Given the description of an element on the screen output the (x, y) to click on. 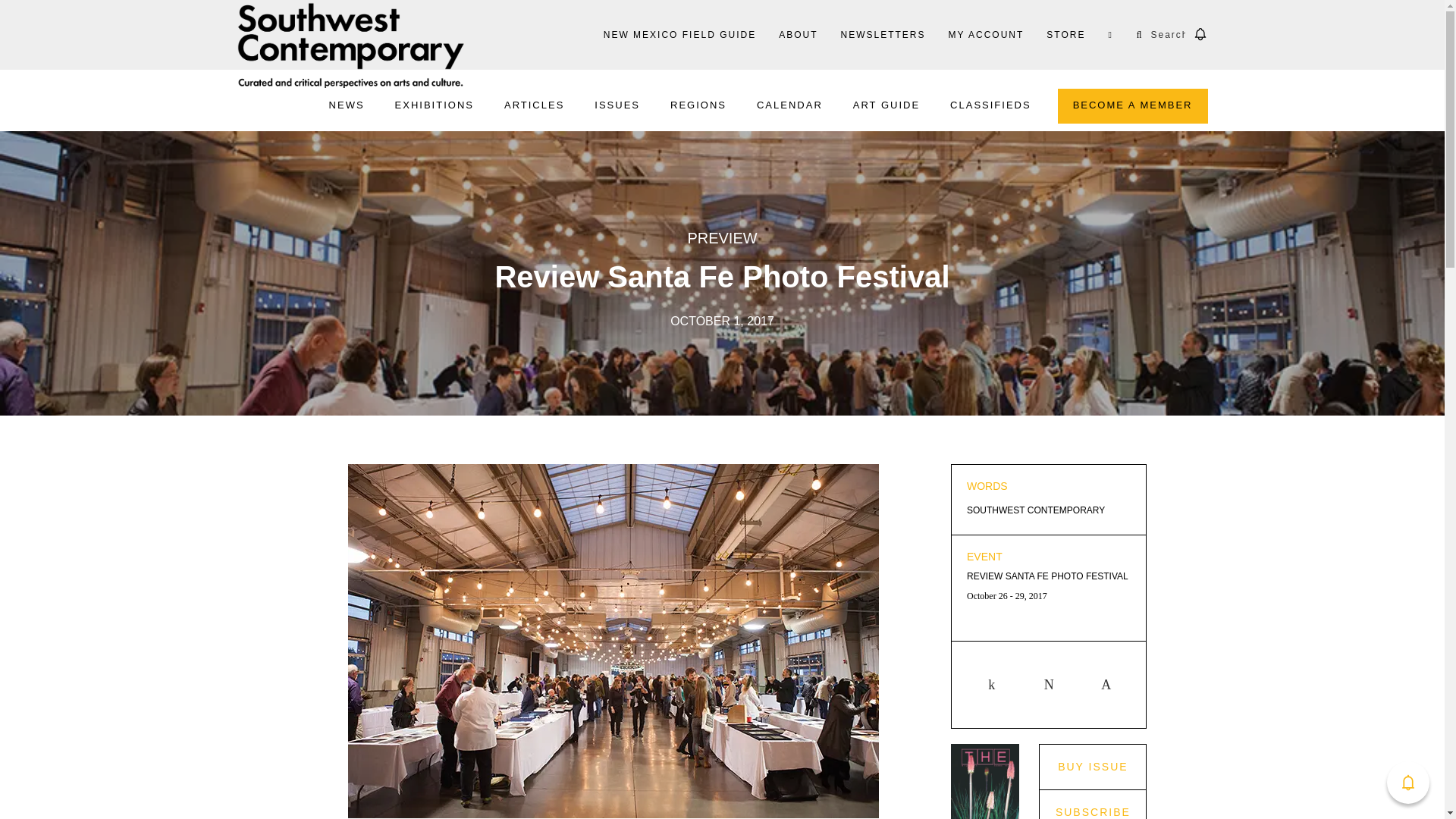
EXHIBITIONS (434, 105)
ARTICLES (533, 105)
MY ACCOUNT (986, 34)
Southwest Contemporary (349, 44)
Search (44, 13)
NEW MEXICO FIELD GUIDE (679, 34)
NEWS (347, 105)
ISSUES (617, 105)
ABOUT (797, 34)
NEWSLETTERS (882, 34)
STORE (1065, 34)
